Given the description of an element on the screen output the (x, y) to click on. 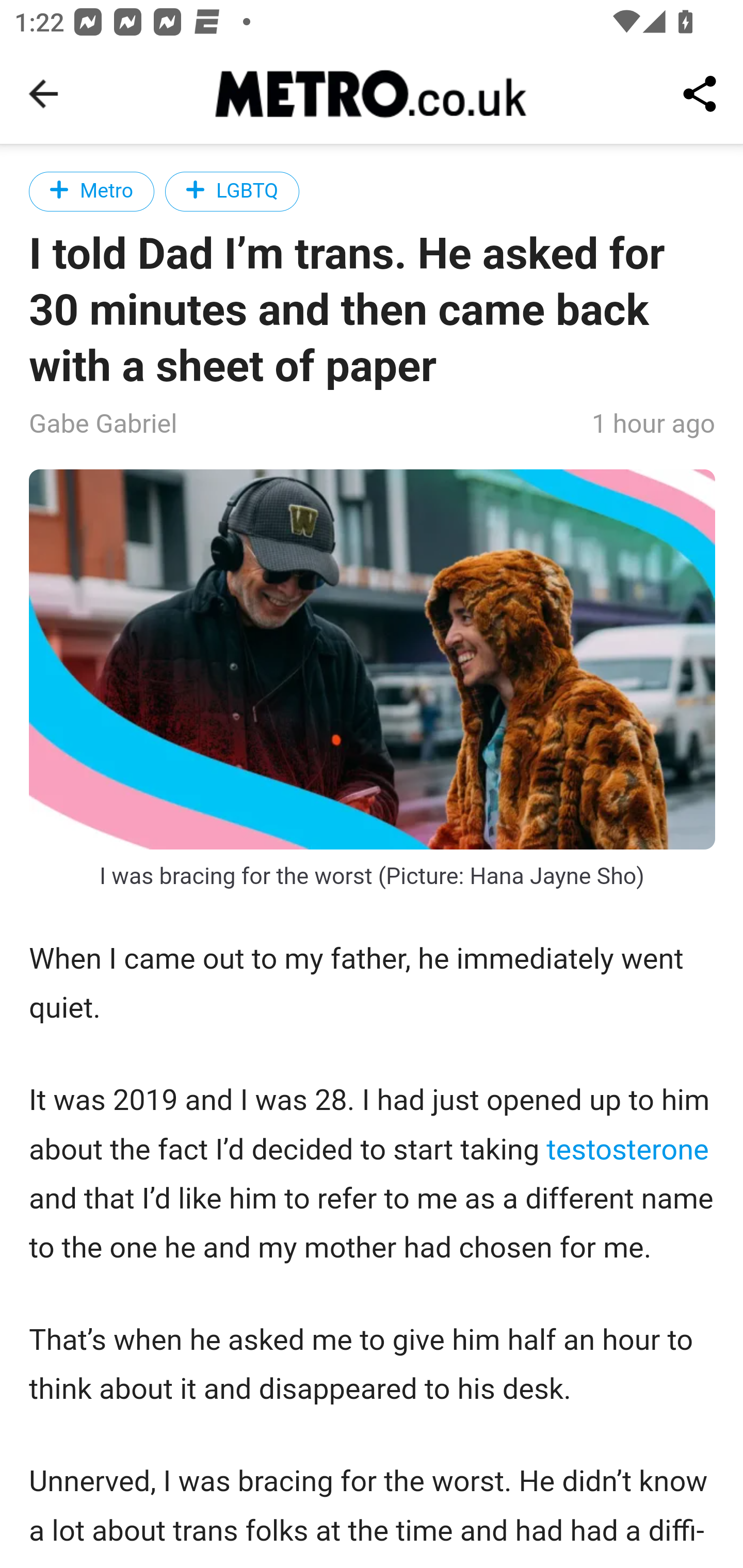
Metro (91, 191)
LGBTQ (231, 191)
testosterone (627, 1148)
